Given the description of an element on the screen output the (x, y) to click on. 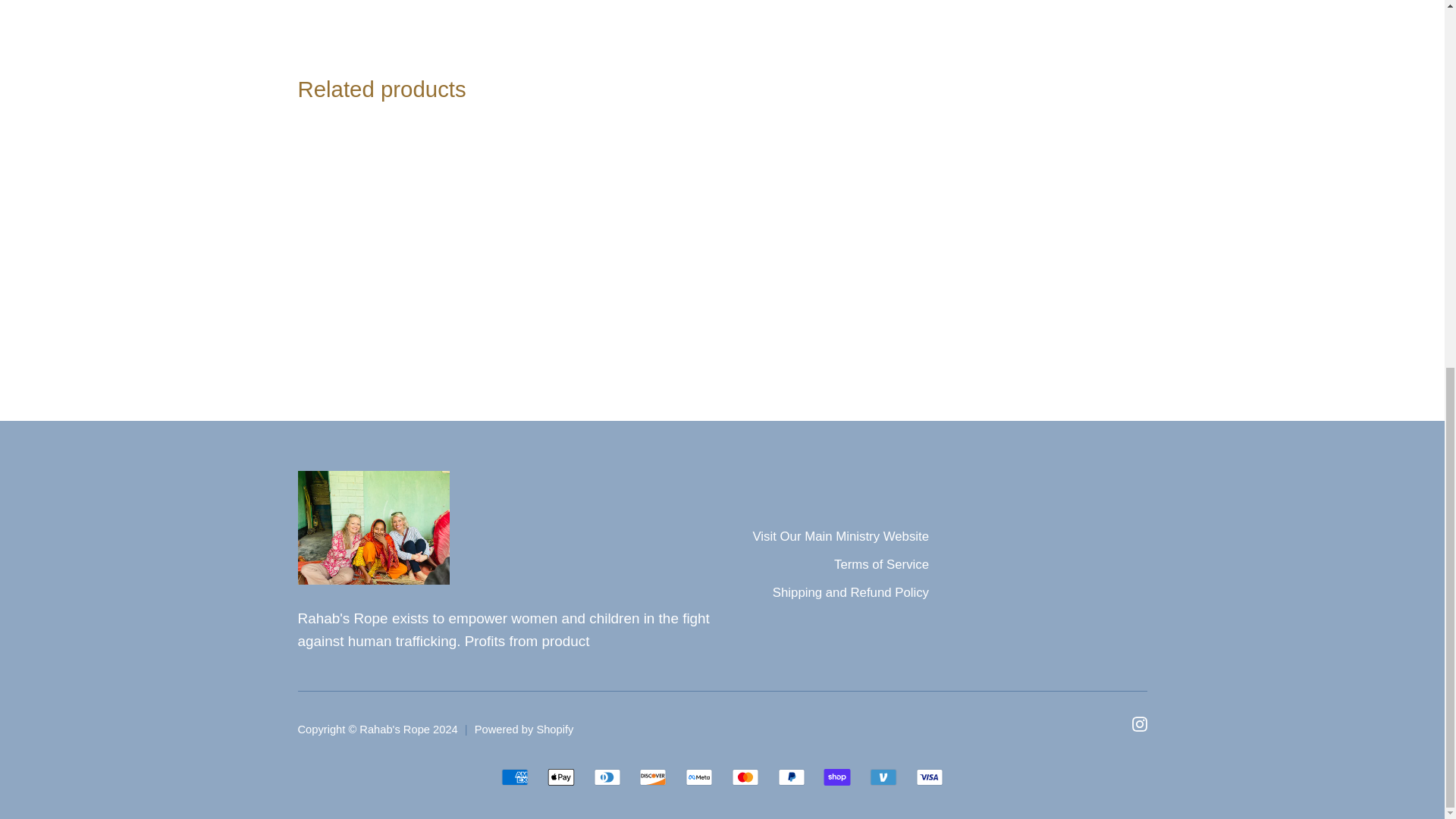
Venmo (882, 777)
Meta Pay (699, 777)
American Express (514, 777)
PayPal (791, 777)
Mastercard (745, 777)
Visa (929, 777)
Apple Pay (561, 777)
Discover (652, 777)
Diners Club (607, 777)
Shop Pay (836, 777)
